Given the description of an element on the screen output the (x, y) to click on. 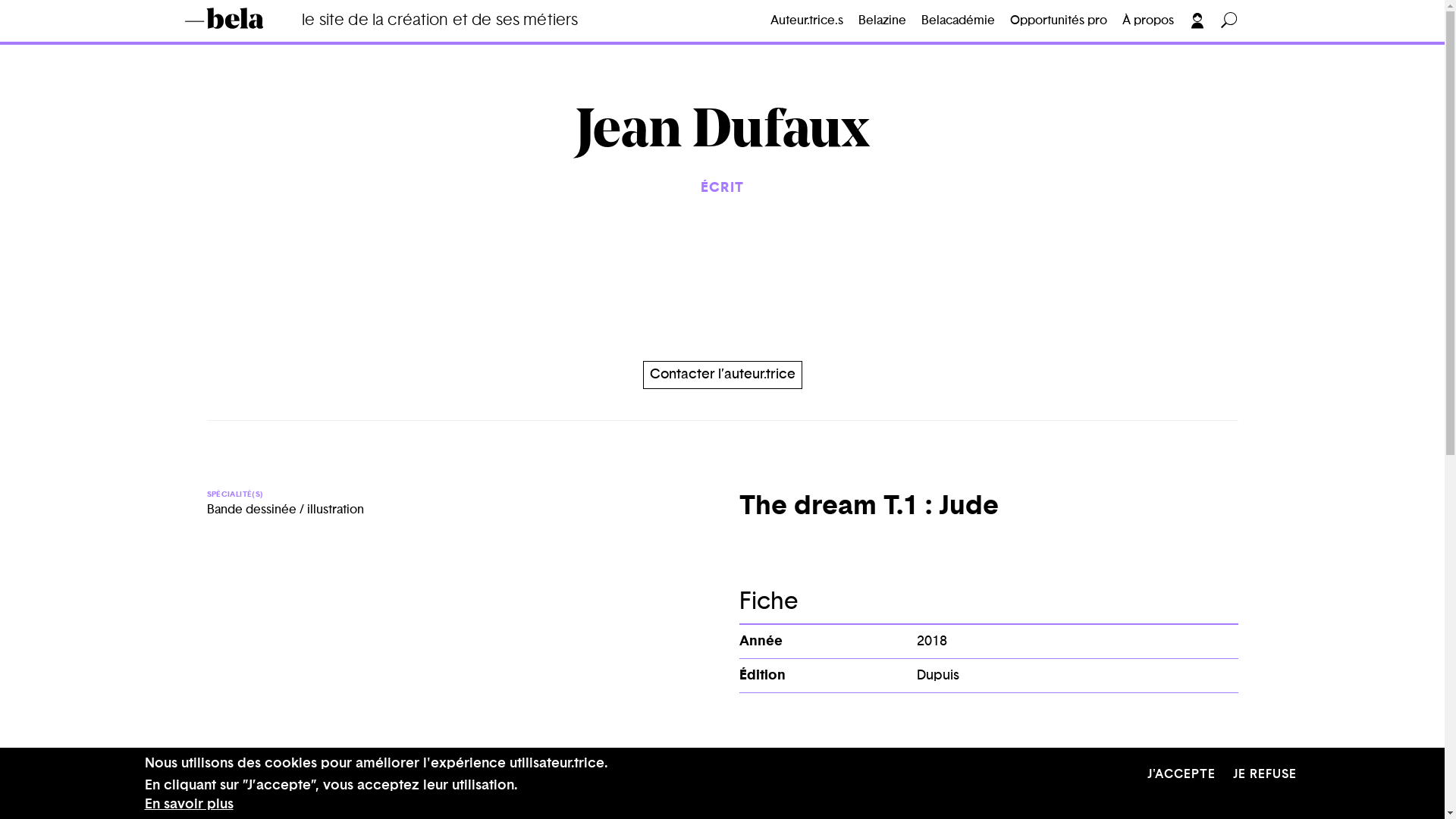
Accueil Element type: hover (245, 17)
Auteur.trice.s Element type: text (806, 21)
En savoir plus Element type: text (188, 804)
J'ACCEPTE Element type: text (1180, 774)
Belazine Element type: text (882, 21)
Jean Dufaux Element type: text (722, 133)
JE REFUSE Element type: text (1264, 774)
